Given the description of an element on the screen output the (x, y) to click on. 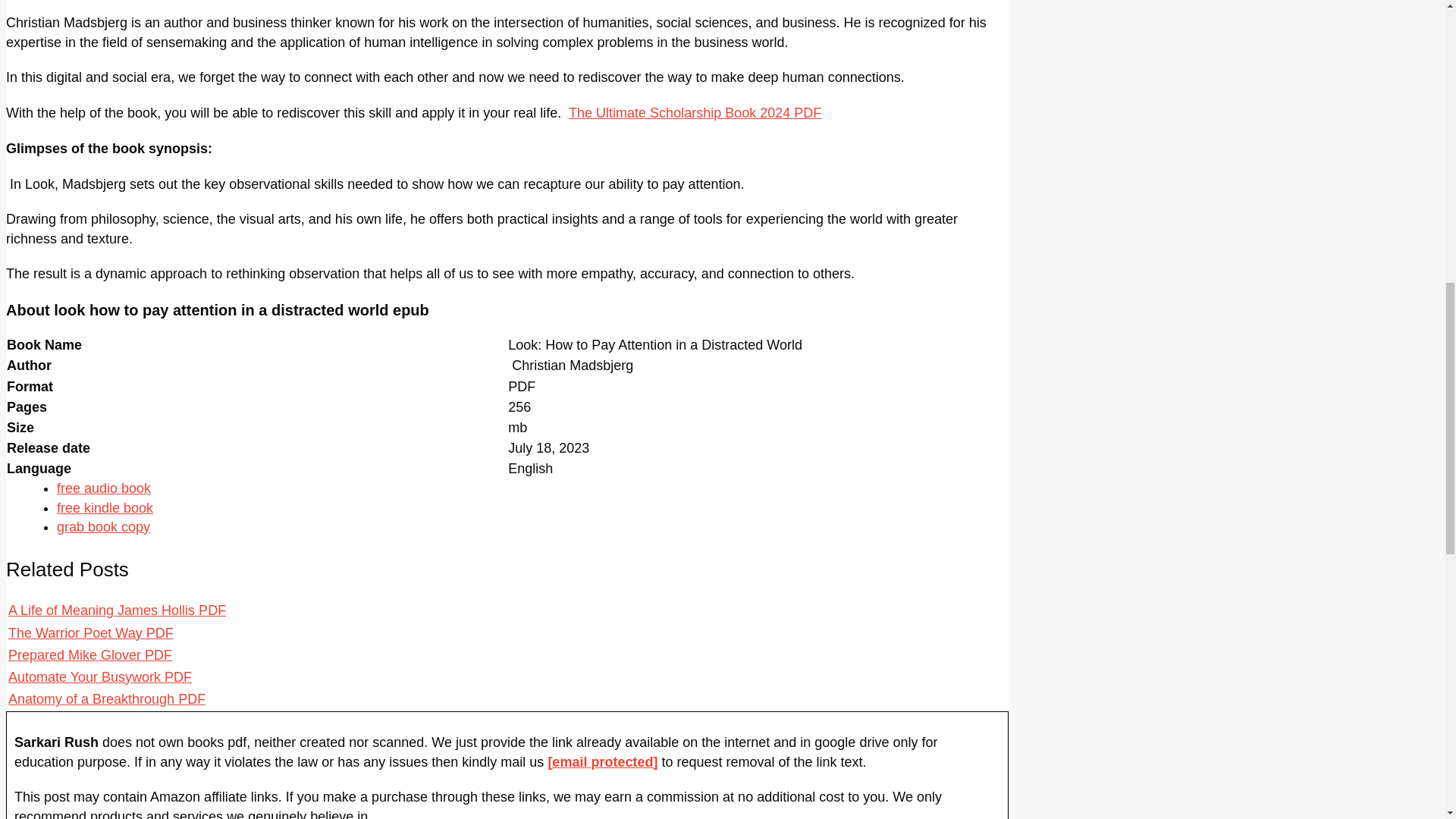
The Ultimate Scholarship Book 2024 PDF (695, 112)
free audio book (103, 488)
A Life of Meaning James Hollis PDF (116, 610)
Automate Your Busywork PDF (100, 676)
The Warrior Poet Way PDF (90, 632)
Prepared Mike Glover PDF (89, 654)
grab book copy (102, 526)
free kindle book (104, 507)
Anatomy of a Breakthrough PDF (106, 698)
